Given the description of an element on the screen output the (x, y) to click on. 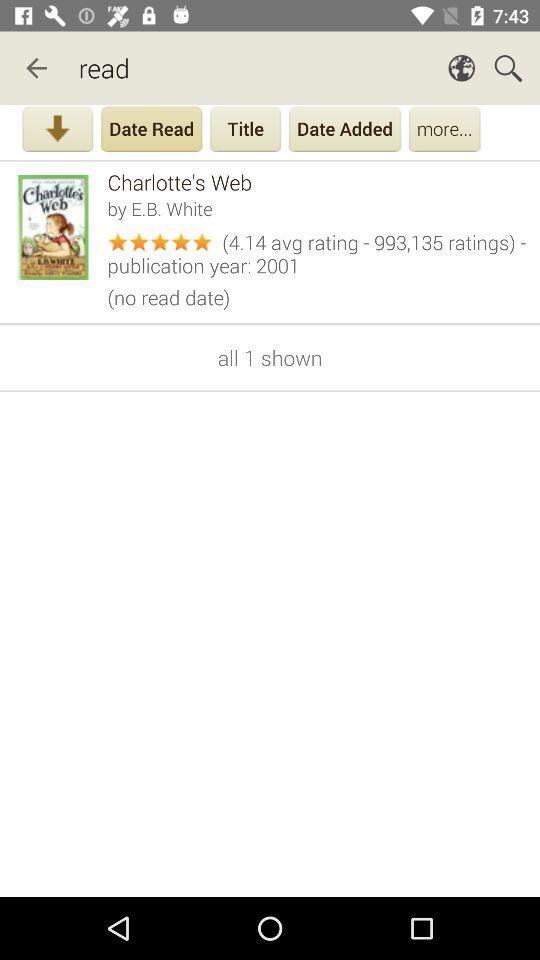
flip until the more... (444, 131)
